Given the description of an element on the screen output the (x, y) to click on. 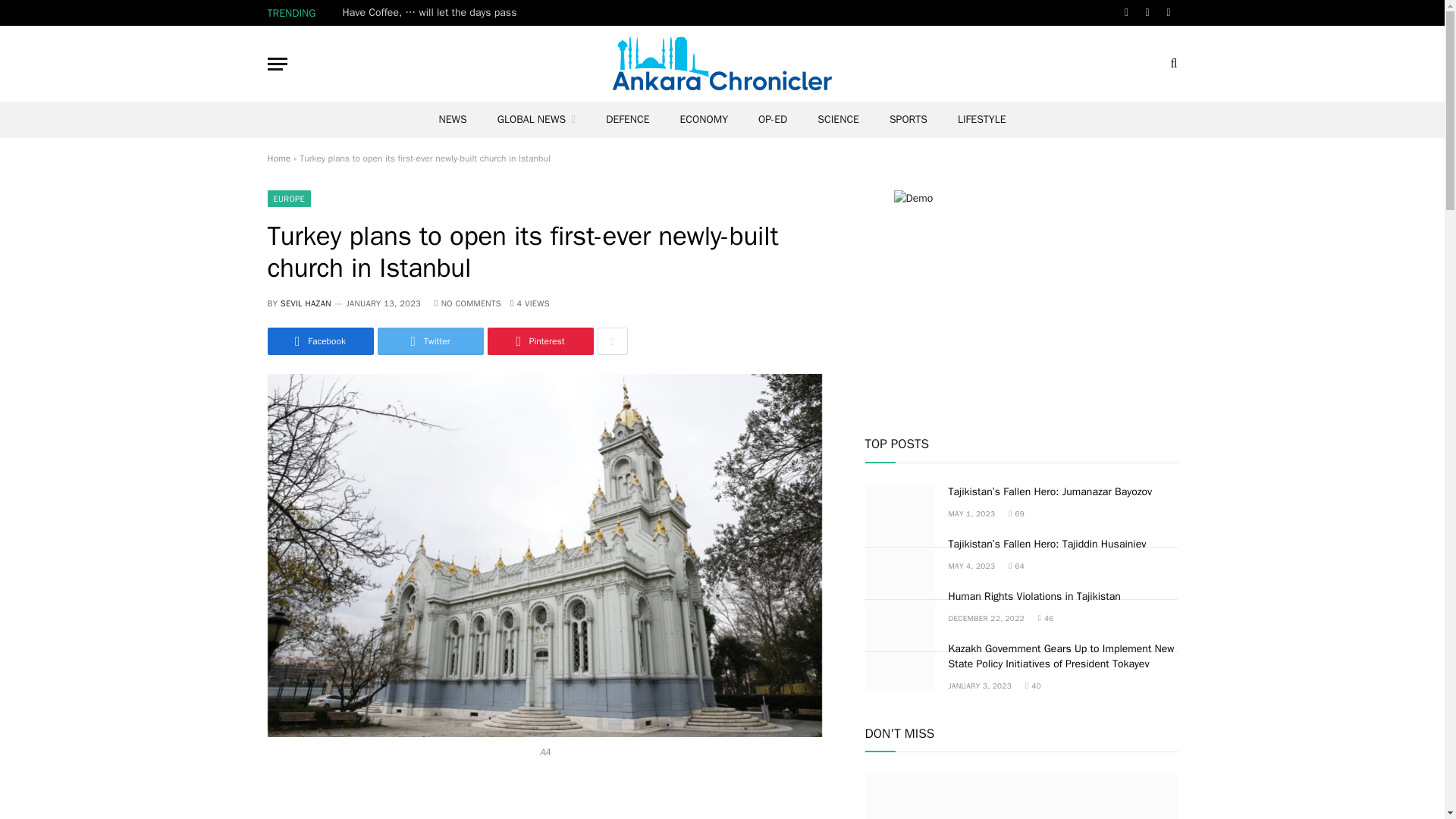
Ankara Chronicler (721, 63)
Show More Social Sharing (611, 340)
Posts by Sevil Hazan (306, 303)
4 Article Views (530, 303)
Share on Facebook (319, 340)
Share on Pinterest (539, 340)
